Given the description of an element on the screen output the (x, y) to click on. 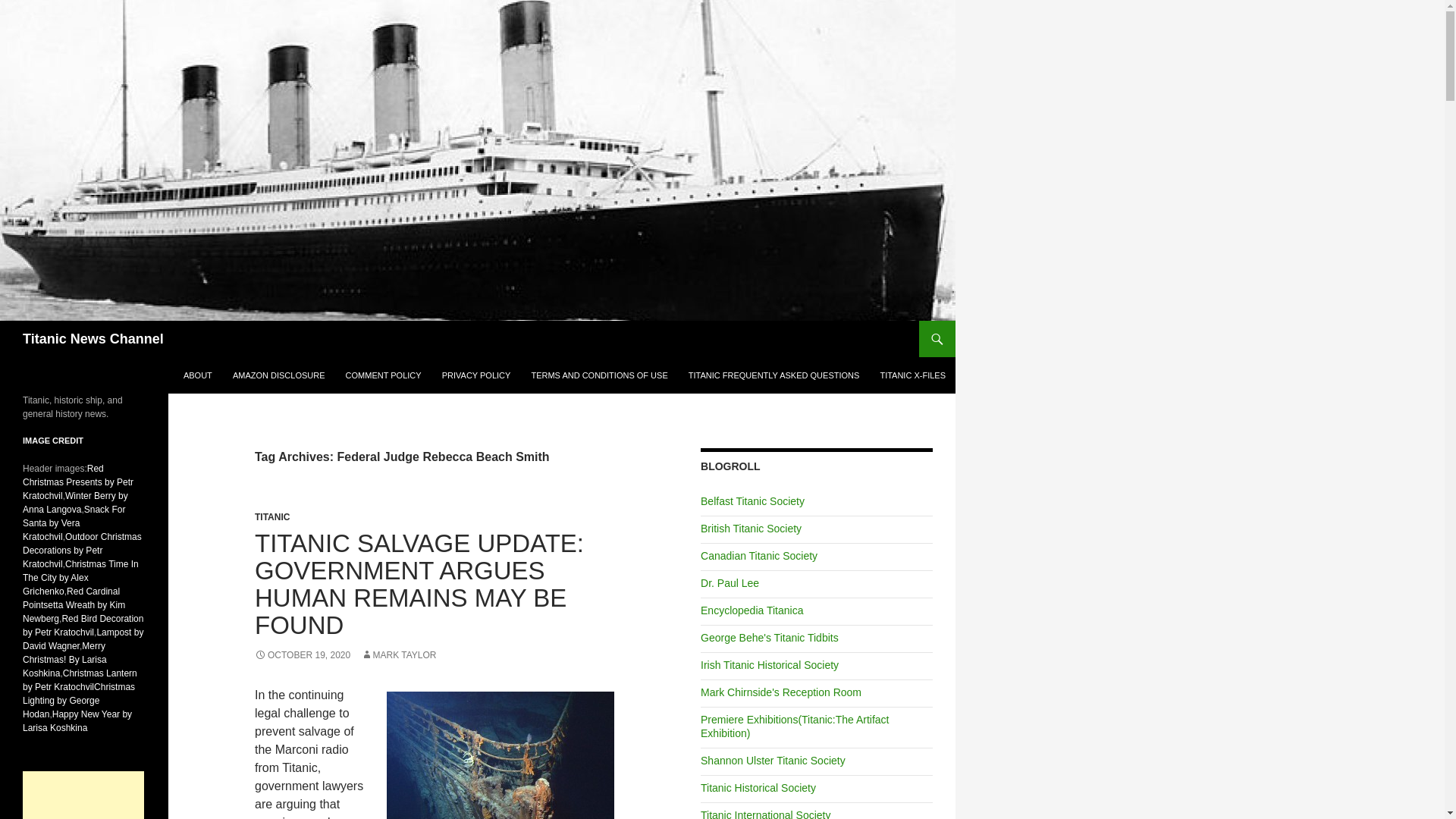
TITANIC X-FILES (912, 375)
OCTOBER 19, 2020 (302, 655)
Advertisement (83, 795)
AMAZON DISCLOSURE (279, 375)
MARK TAYLOR (398, 655)
TERMS AND CONDITIONS OF USE (599, 375)
ABOUT (197, 375)
Titanic News Channel (93, 339)
